Given the description of an element on the screen output the (x, y) to click on. 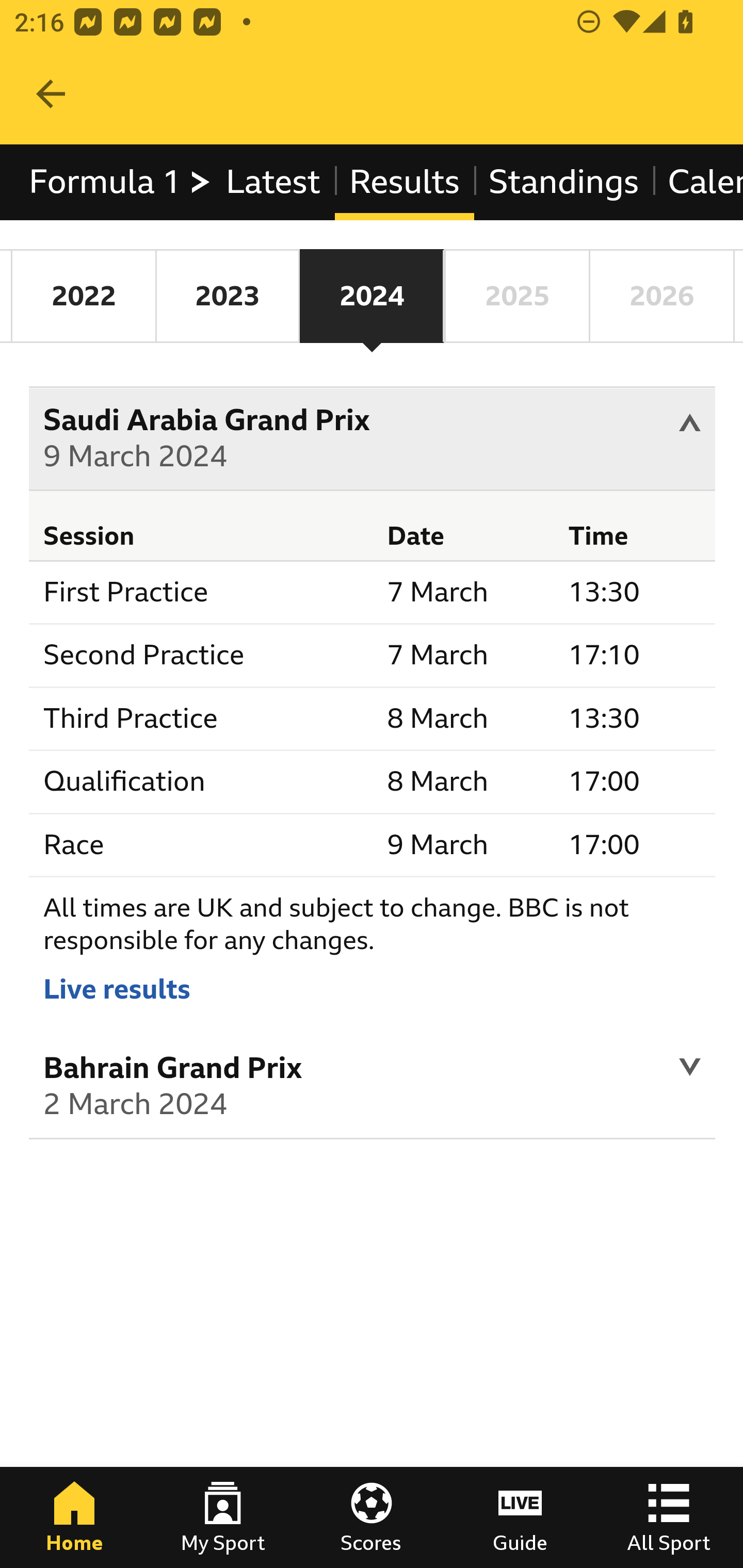
Navigate up (50, 93)
Formula 1  (120, 181)
Latest (272, 181)
Results (403, 181)
Standings (564, 181)
Calendar (697, 181)
2022 (83, 296)
2023 (227, 296)
2024, Selected 2024 , Selected (371, 296)
Live results (117, 988)
Bahrain Grand Prix, Bahrain IC 2 March 2024 (372, 1088)
My Sport (222, 1517)
Scores (371, 1517)
Guide (519, 1517)
All Sport (668, 1517)
